Given the description of an element on the screen output the (x, y) to click on. 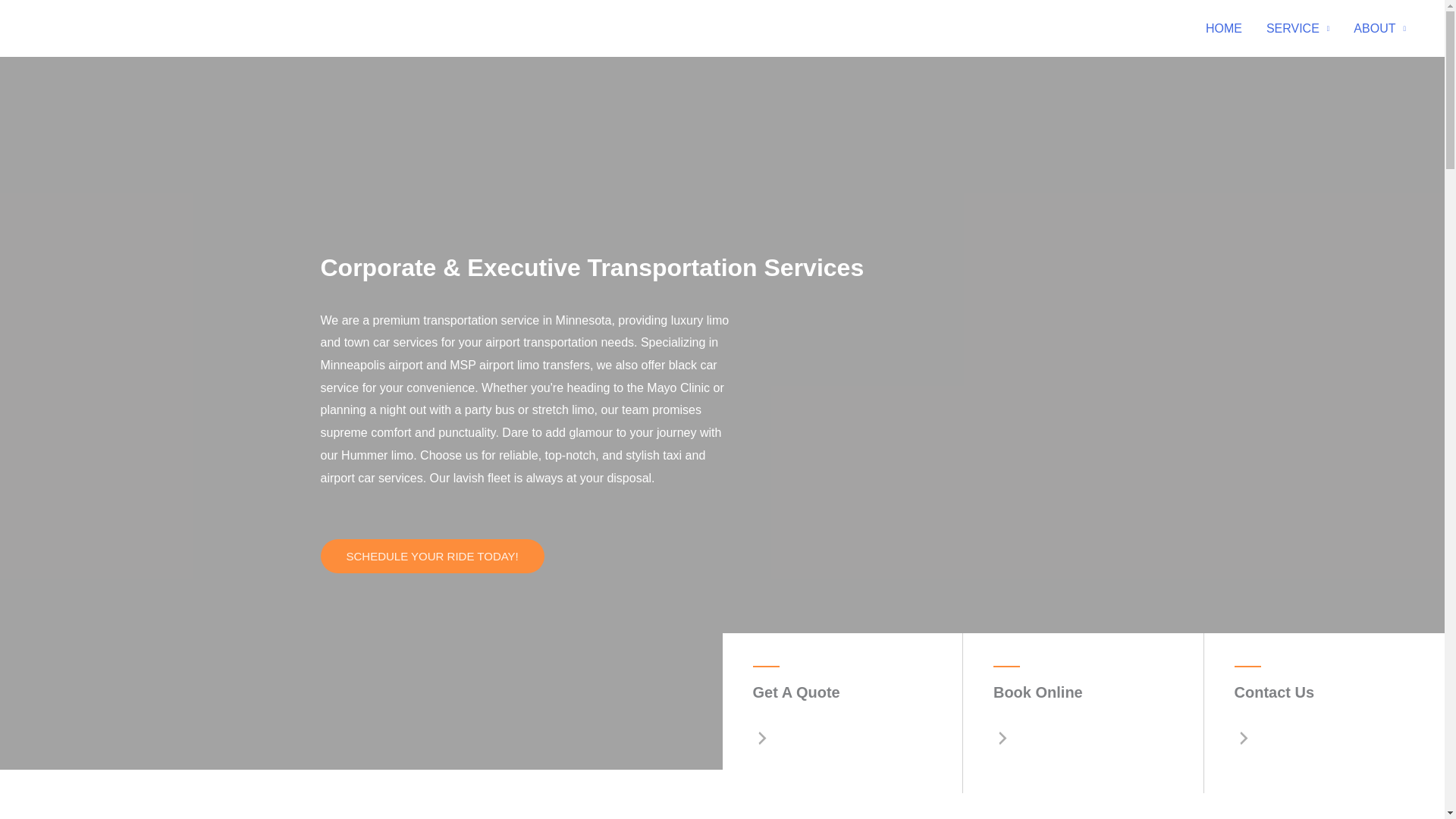
SCHEDULE YOUR RIDE TODAY! (431, 555)
SERVICE (1296, 27)
HOME (1223, 27)
ABOUT (1379, 27)
